Given the description of an element on the screen output the (x, y) to click on. 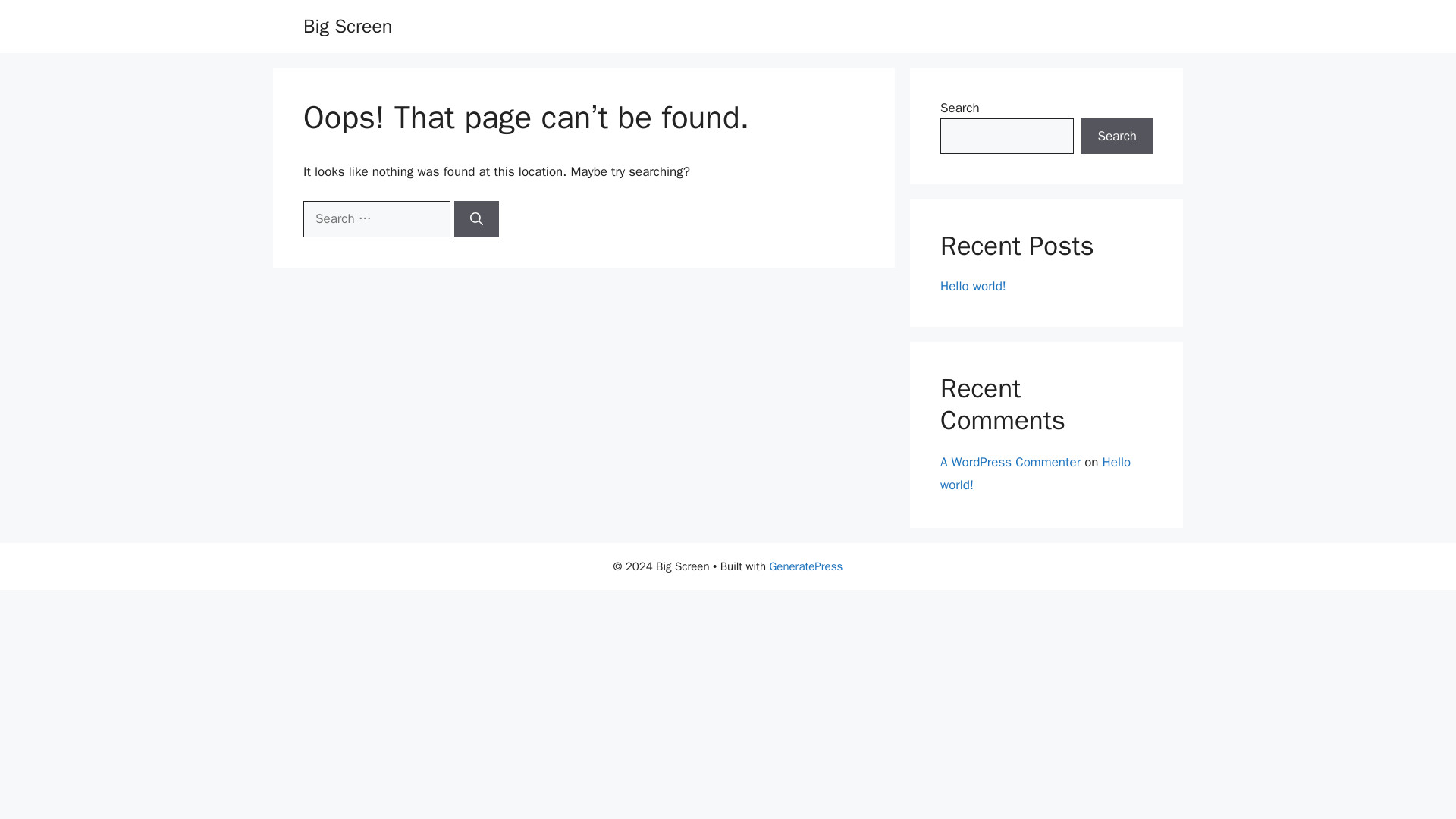
Big Screen (346, 25)
A WordPress Commenter (1010, 461)
Hello world! (973, 286)
GeneratePress (805, 566)
Hello world! (1035, 473)
Search (1117, 135)
Search for: (375, 218)
